Given the description of an element on the screen output the (x, y) to click on. 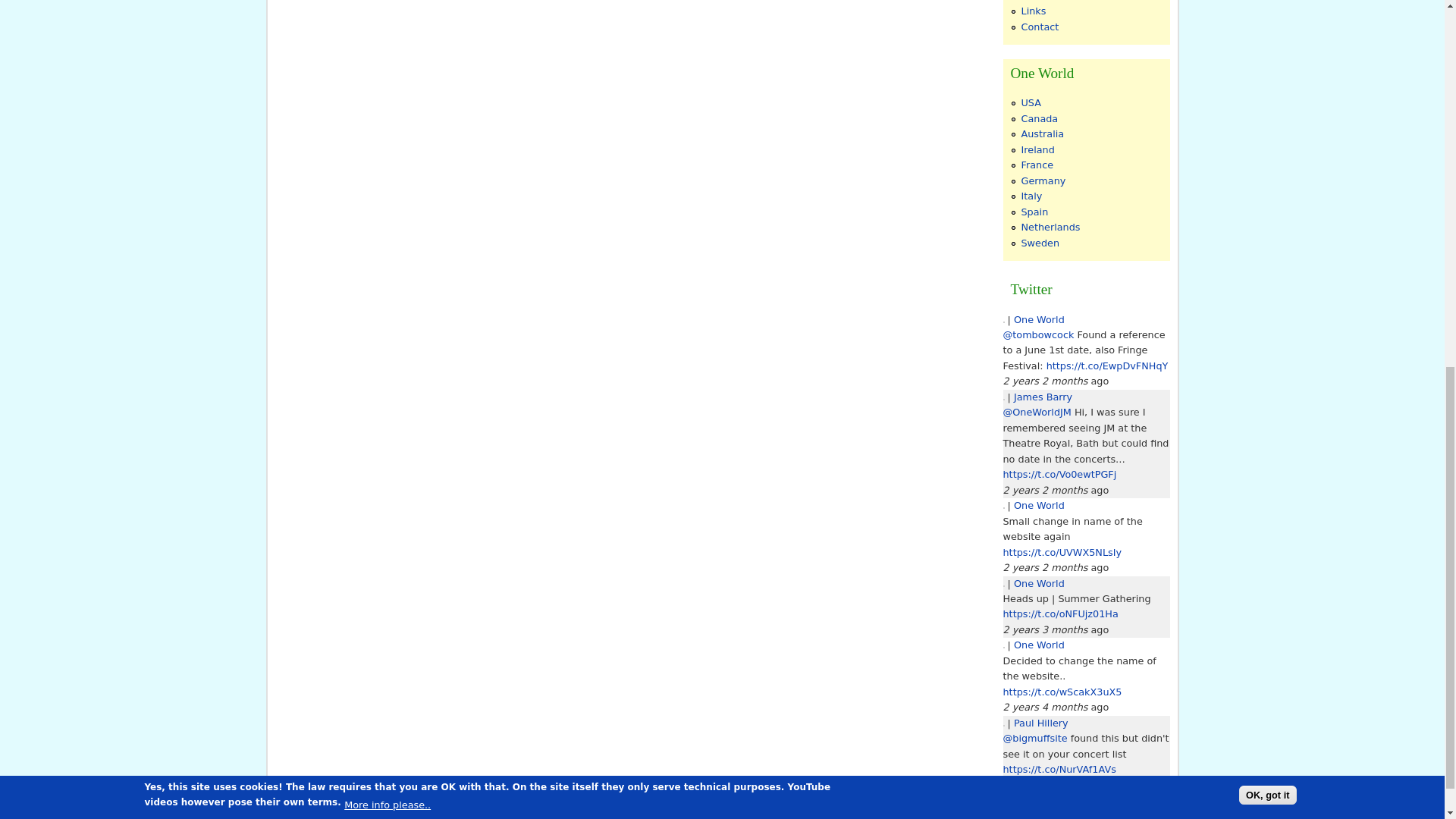
Canada (1039, 118)
Contact (1039, 26)
France (1036, 164)
Ireland (1037, 149)
USA (1030, 102)
Australia (1042, 133)
Germany (1042, 180)
Island (1034, 0)
Links (1032, 10)
Spain (1034, 211)
Netherlands (1050, 226)
Italy (1031, 195)
